Given the description of an element on the screen output the (x, y) to click on. 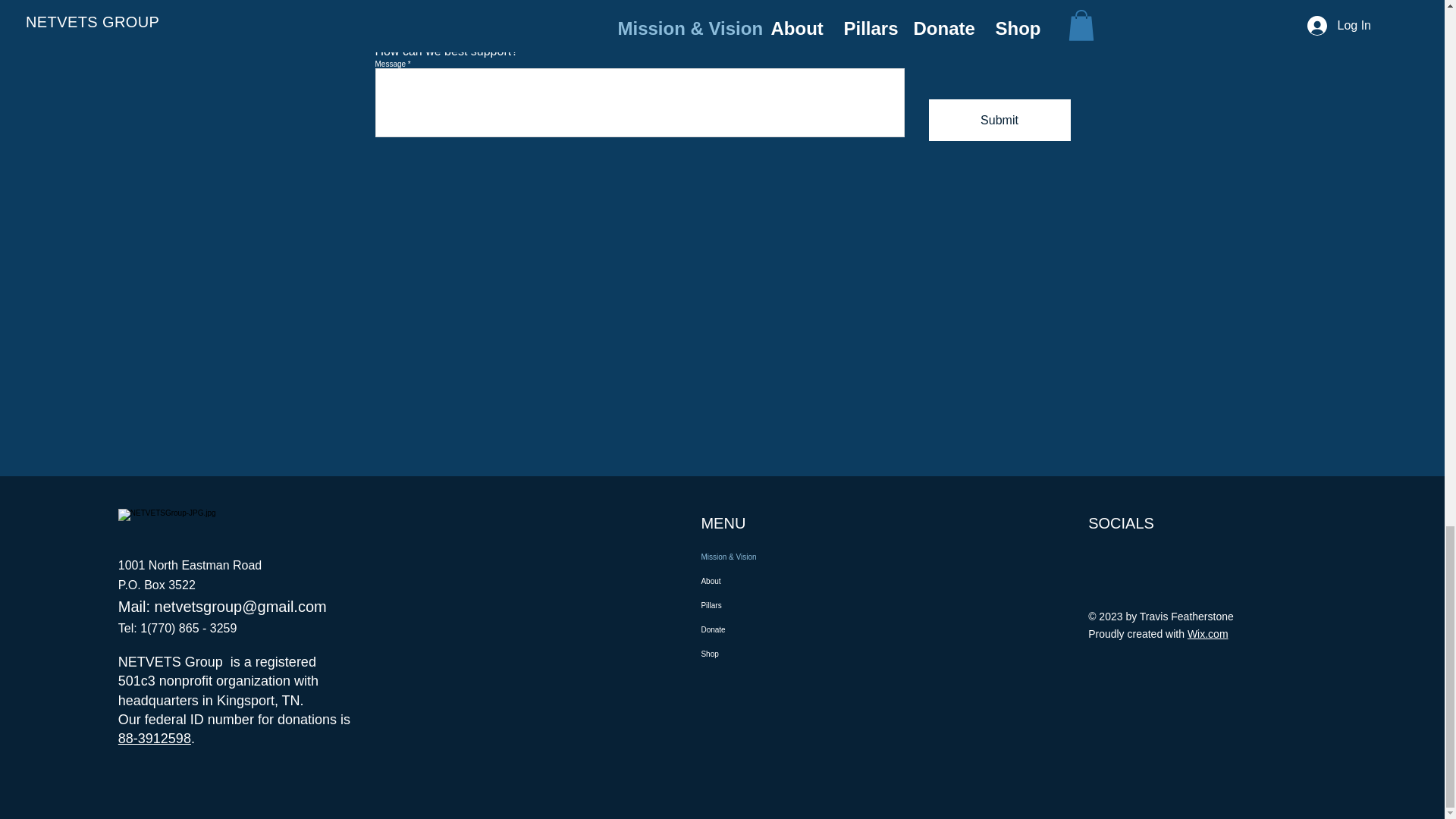
About (771, 581)
Shop (771, 654)
Donate (771, 630)
Pillars (771, 605)
Submit (999, 119)
Wix.com (1208, 633)
